Given the description of an element on the screen output the (x, y) to click on. 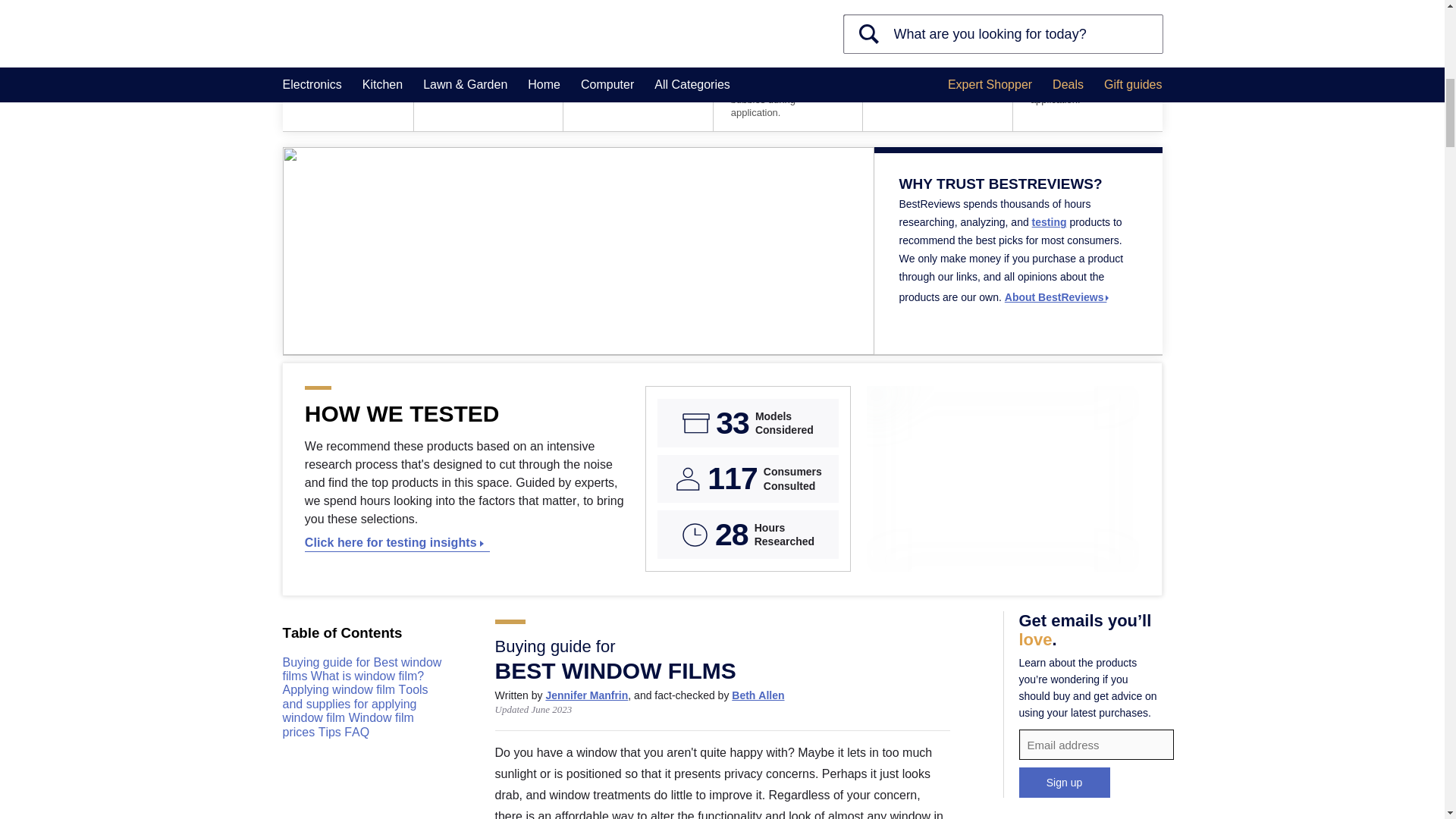
Buying guide for Best window films (361, 669)
Jennifer Manfrin (585, 695)
Window film prices (347, 724)
Tools and supplies for applying window film (355, 703)
FAQ (356, 731)
About BestReviews   (1056, 297)
Subscribe email (1096, 744)
What is window film? (367, 675)
testing (1049, 222)
Tips (331, 731)
